Given the description of an element on the screen output the (x, y) to click on. 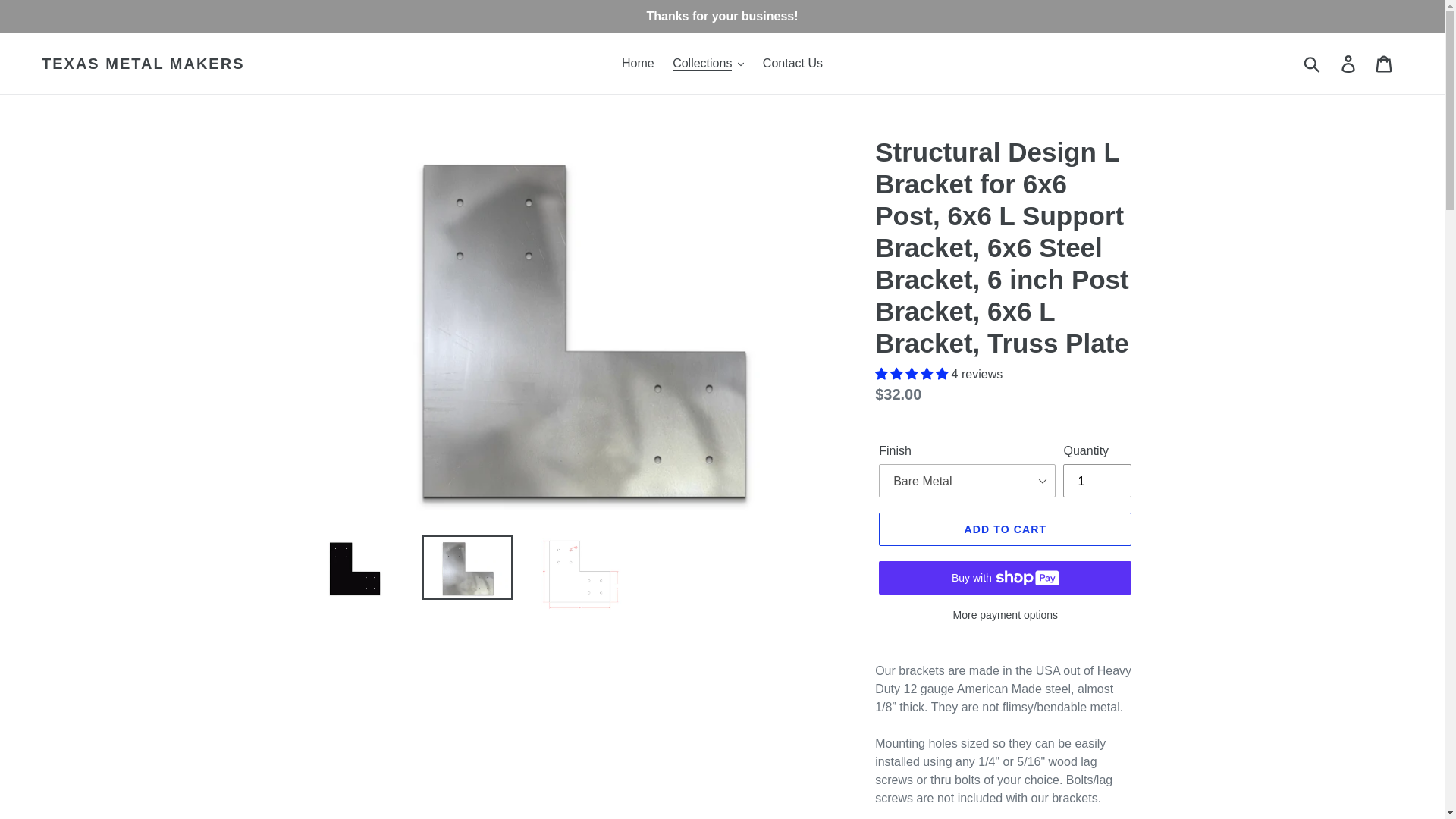
TEXAS METAL MAKERS (143, 63)
Contact Us (792, 63)
Cart (1385, 63)
1 (1096, 480)
Home (638, 63)
Submit (1313, 63)
Log in (1349, 63)
